Given the description of an element on the screen output the (x, y) to click on. 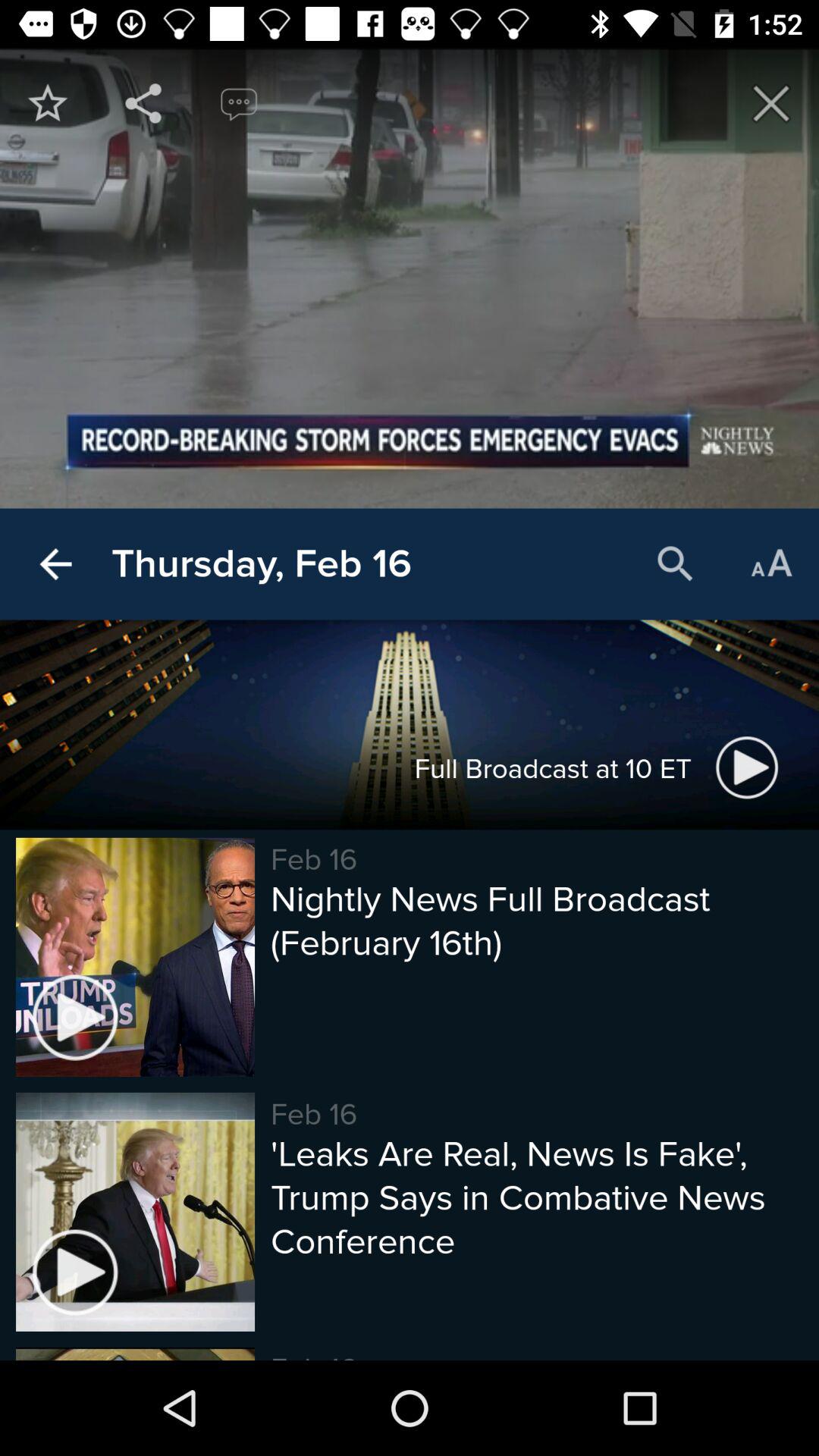
favorite page (47, 103)
